Given the description of an element on the screen output the (x, y) to click on. 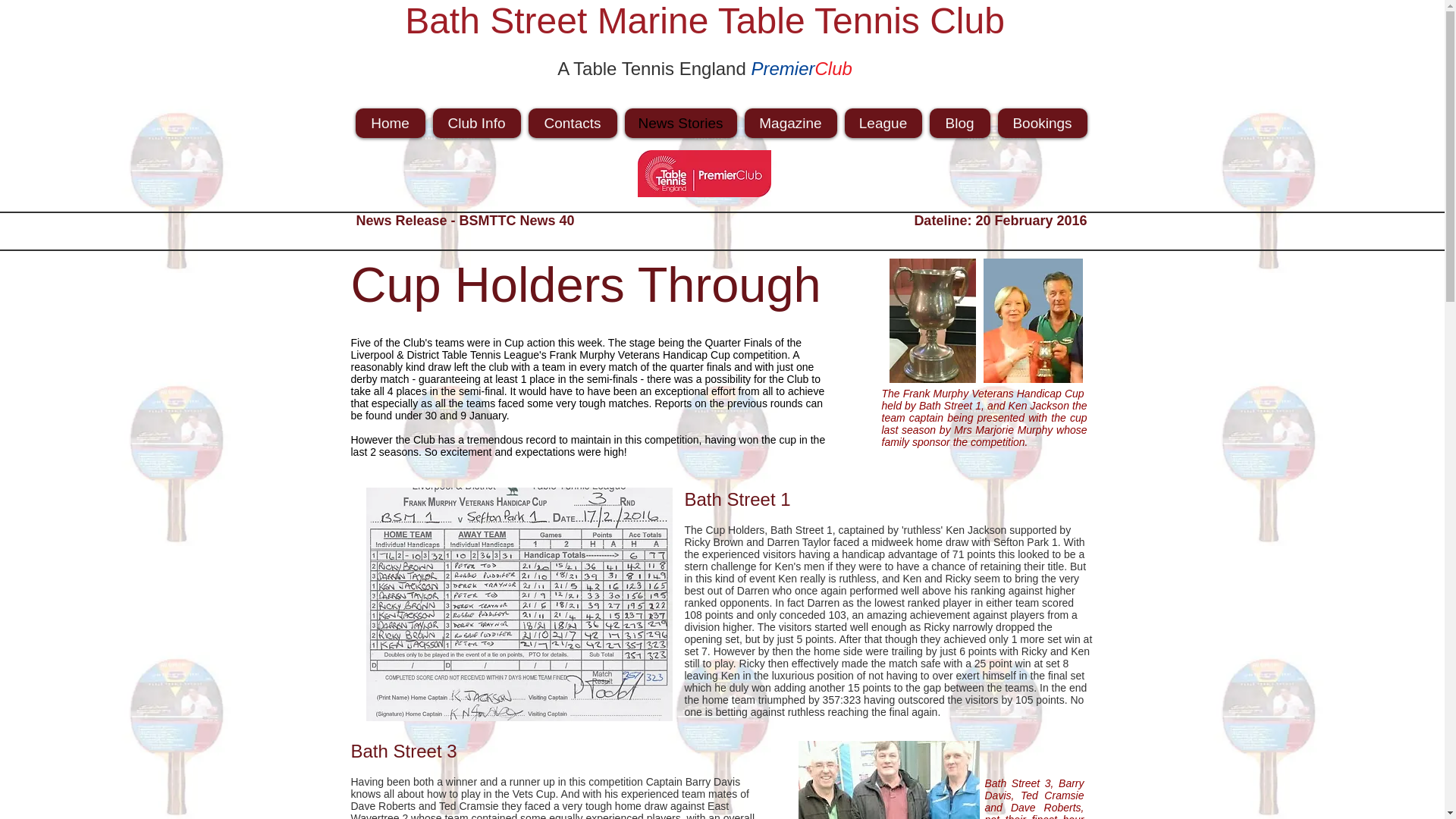
Home (390, 123)
Premier Club 0 Star.jpg (703, 173)
Contacts (571, 123)
Club Info (475, 123)
News Stories (680, 123)
